Given the description of an element on the screen output the (x, y) to click on. 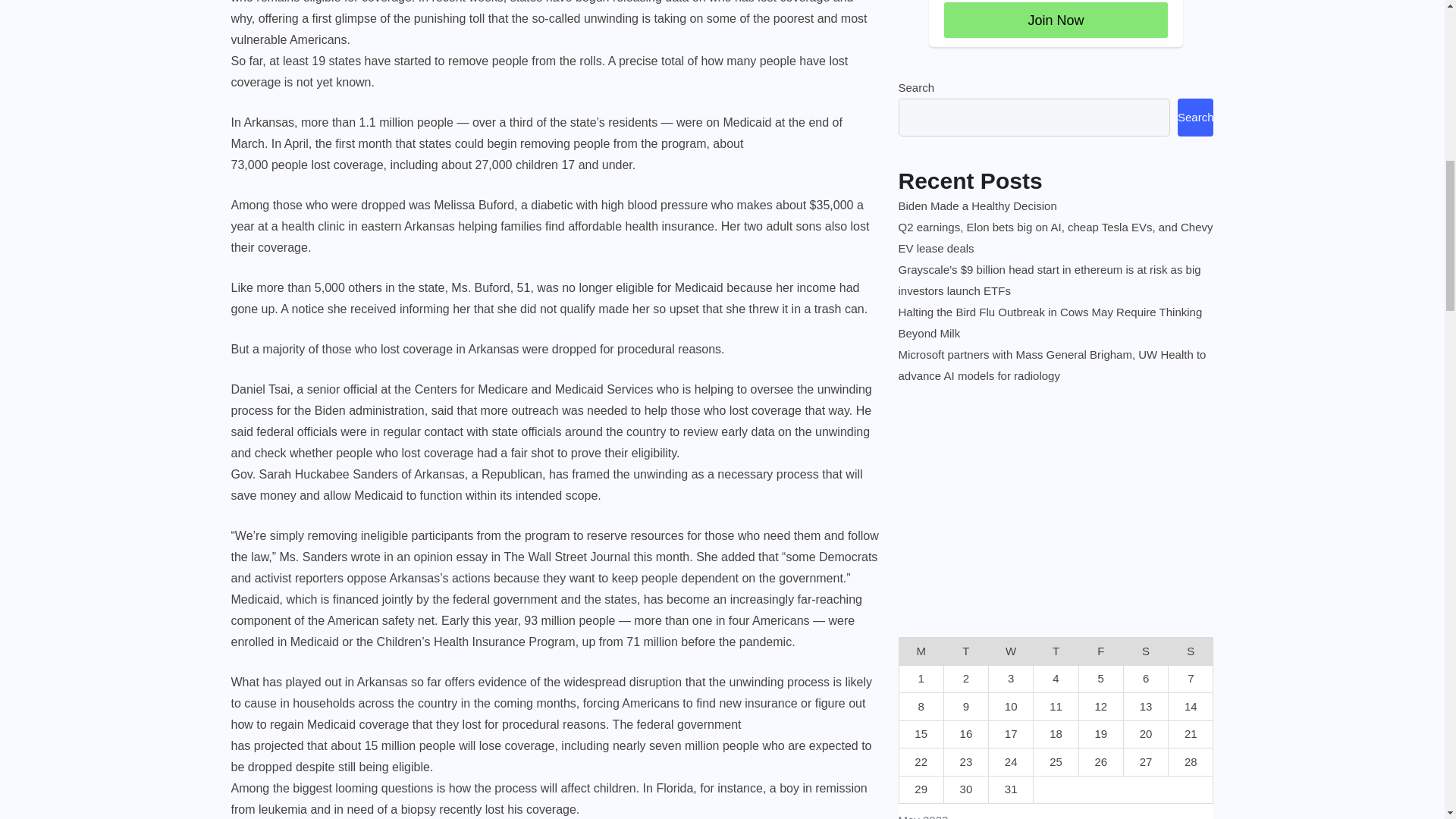
Join Now (1055, 19)
19 states (336, 61)
